Given the description of an element on the screen output the (x, y) to click on. 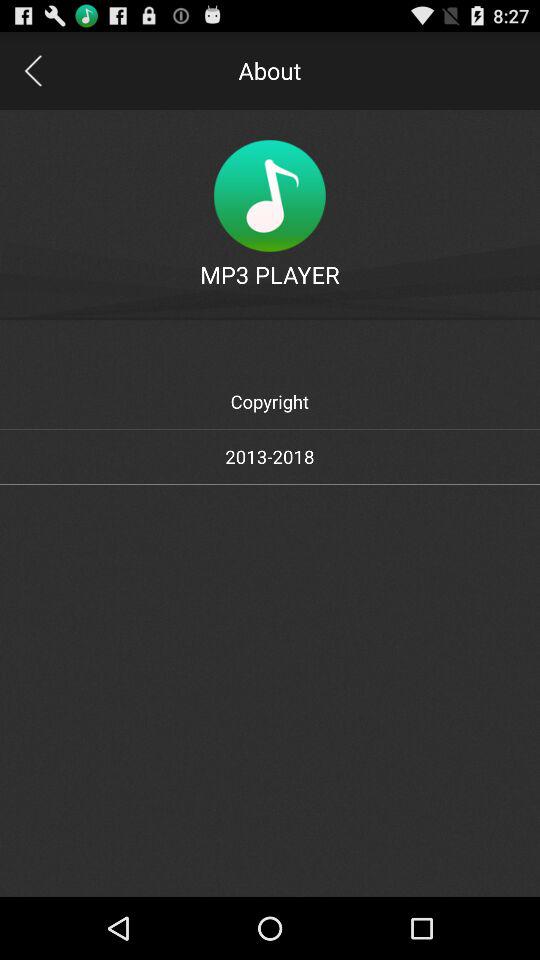
press app next to about item (32, 70)
